Given the description of an element on the screen output the (x, y) to click on. 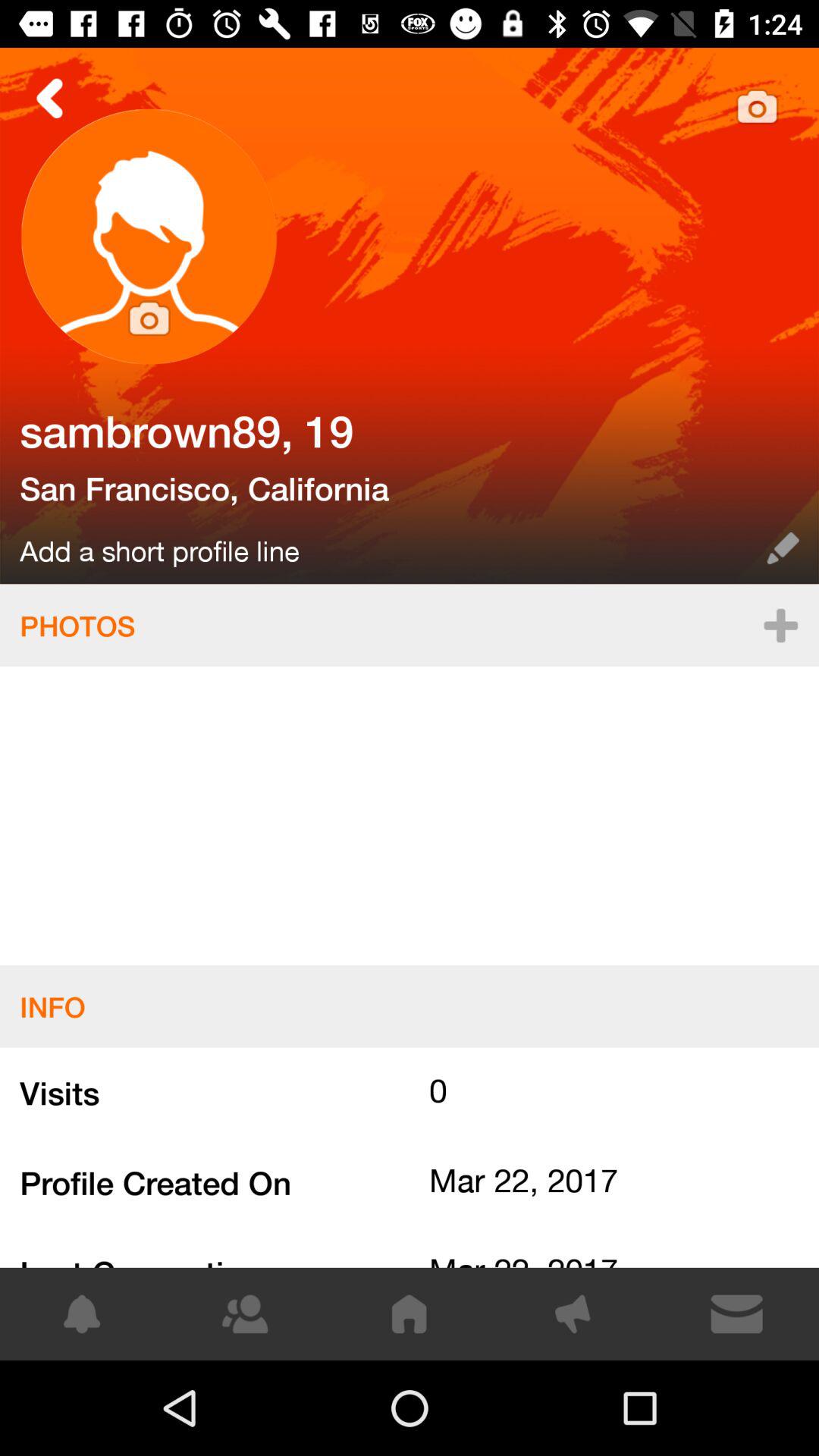
profile picture change (148, 236)
